Given the description of an element on the screen output the (x, y) to click on. 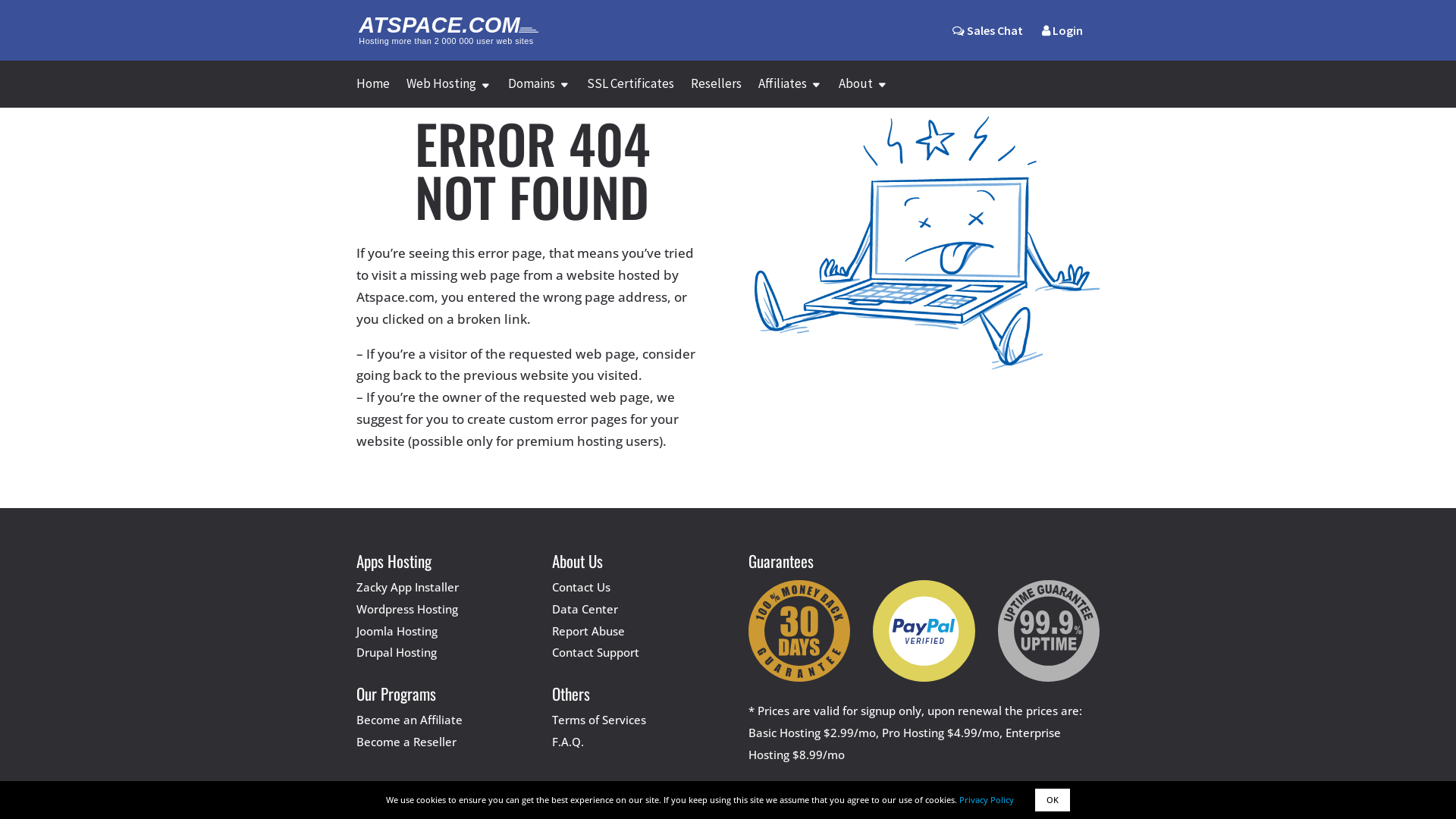
Resellers Element type: text (715, 92)
Home Element type: text (372, 92)
F.A.Q. Element type: text (567, 741)
Sales Chat Element type: text (987, 42)
Become an Affiliate Element type: text (409, 719)
Contact Us Element type: text (581, 586)
Report Abuse Element type: text (588, 630)
AttractSoft GmbH Element type: text (683, 791)
Domains Element type: text (539, 92)
Wordpress Hosting Element type: text (407, 608)
Privacy Policy Element type: text (986, 799)
Affiliates Element type: text (790, 92)
About Element type: text (863, 92)
OK Element type: text (1052, 799)
Drupal Hosting Element type: text (396, 651)
Joomla Hosting Element type: text (396, 630)
Web Hosting Element type: text (448, 92)
Become a Reseller Element type: text (406, 741)
Login Element type: text (1061, 42)
Data Center Element type: text (585, 608)
Terms of Services Element type: text (599, 719)
SSL Certificates Element type: text (630, 92)
Zacky App Installer Element type: text (407, 586)
Contact Support Element type: text (595, 651)
Zetta Hosting Solutions ltd Element type: text (826, 791)
Sales Chat Element type: text (987, 29)
